Given the description of an element on the screen output the (x, y) to click on. 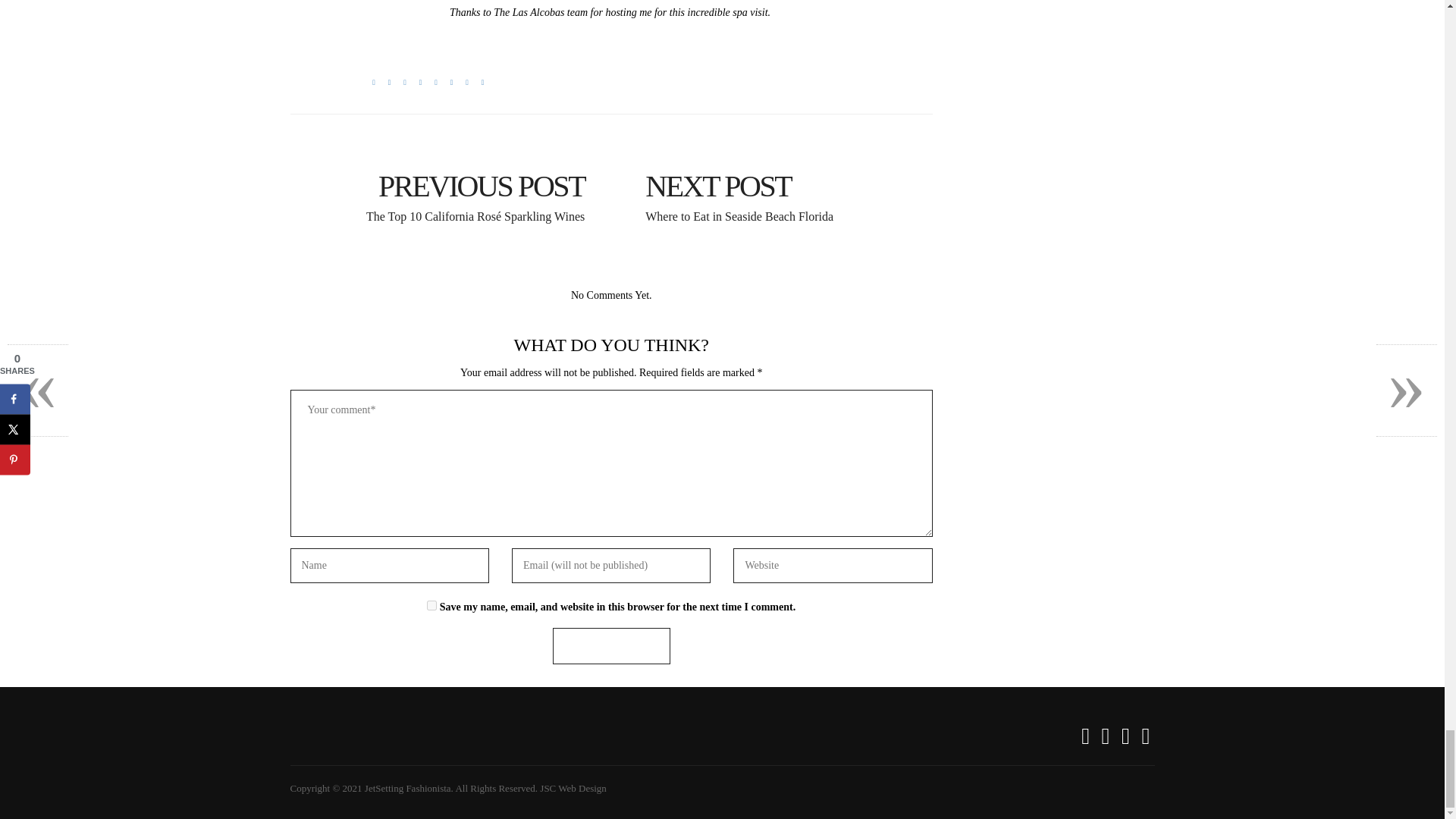
Where to Eat in Seaside Beach Florida (778, 184)
Post comment (611, 646)
yes (431, 605)
